Given the description of an element on the screen output the (x, y) to click on. 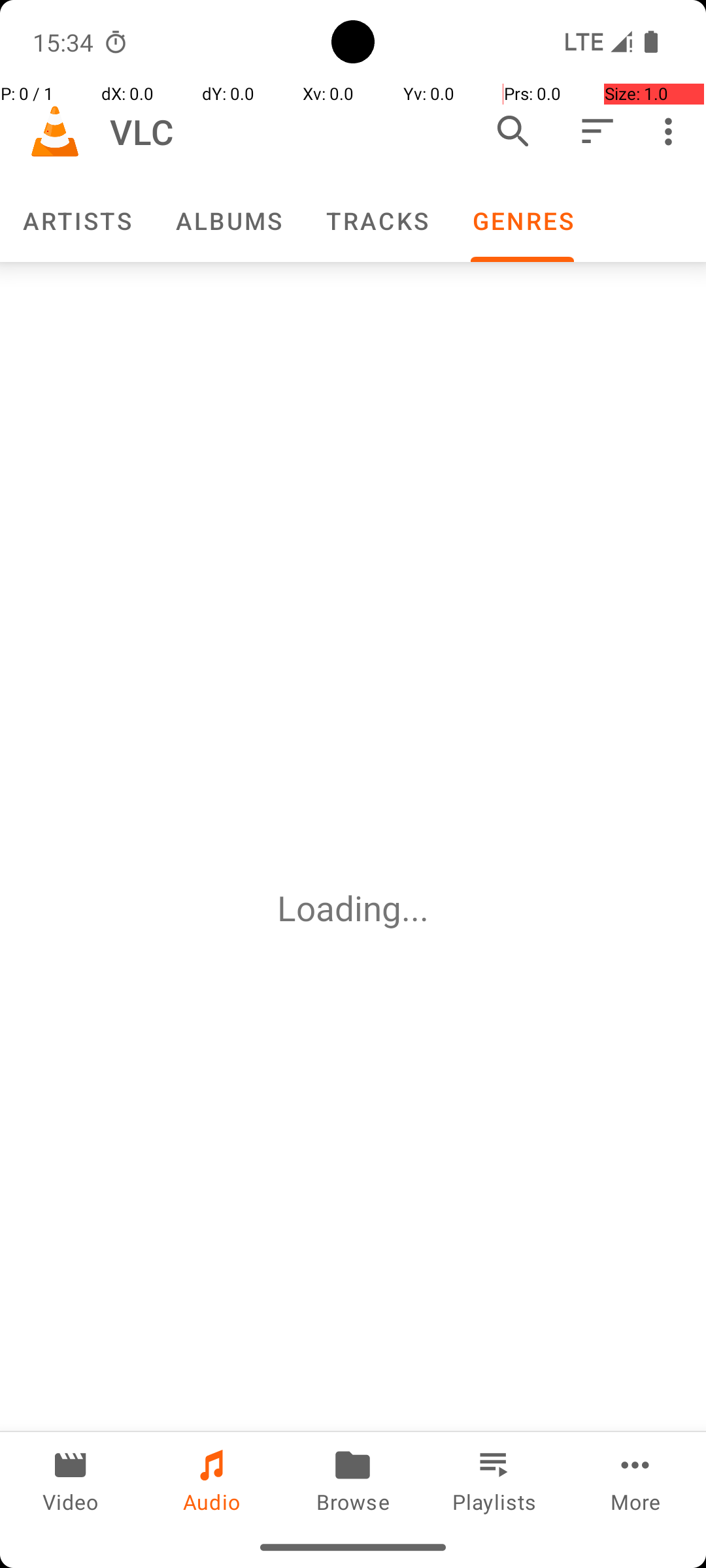
... Element type: android.widget.TextView (414, 907)
